Given the description of an element on the screen output the (x, y) to click on. 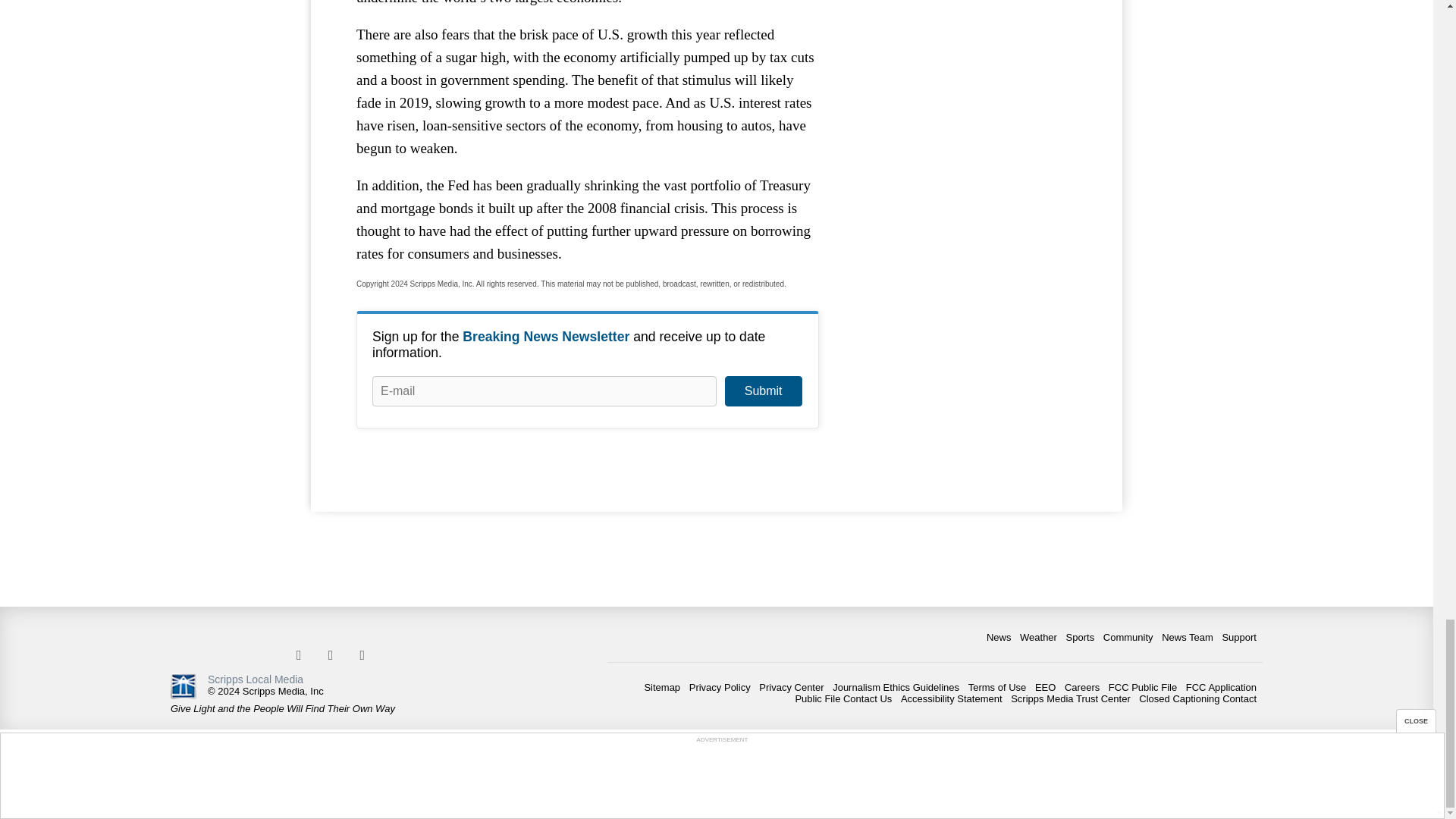
Submit (763, 390)
